Given the description of an element on the screen output the (x, y) to click on. 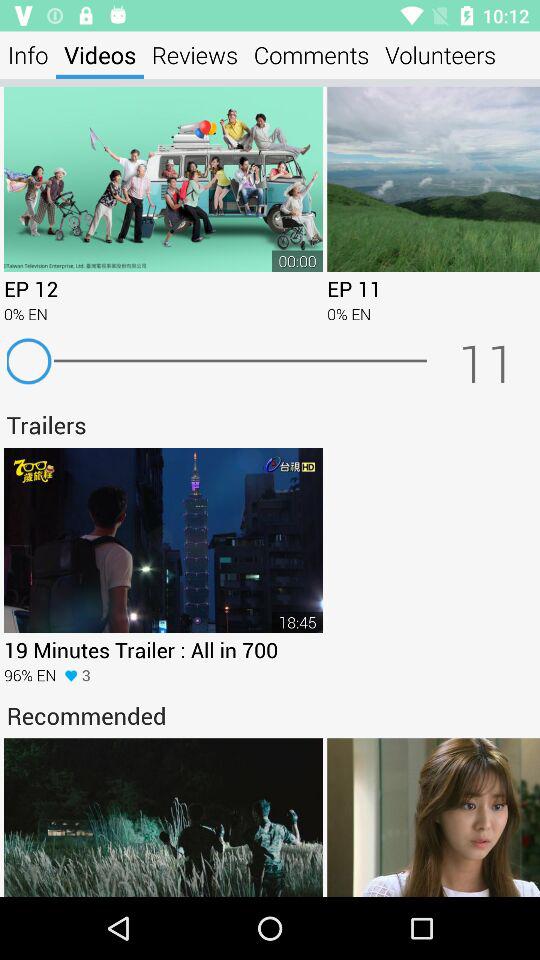
turn off the icon next to videos icon (28, 54)
